Given the description of an element on the screen output the (x, y) to click on. 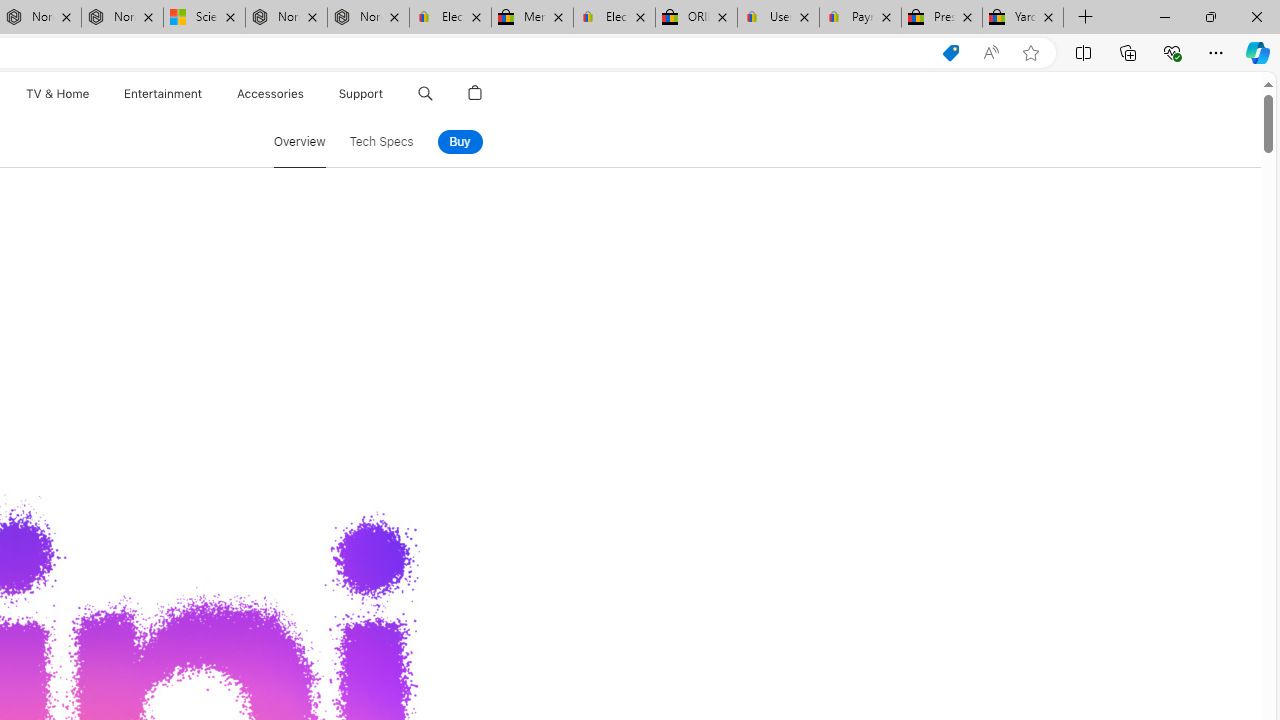
Nordace - Summer Adventures 2024 (285, 17)
Nordace - FAQ (368, 17)
Accessories menu (306, 93)
Entertainment (162, 93)
Support (361, 93)
Support menu (387, 93)
Support (361, 93)
Accessories (269, 93)
Buy HomePod mini (459, 142)
